Given the description of an element on the screen output the (x, y) to click on. 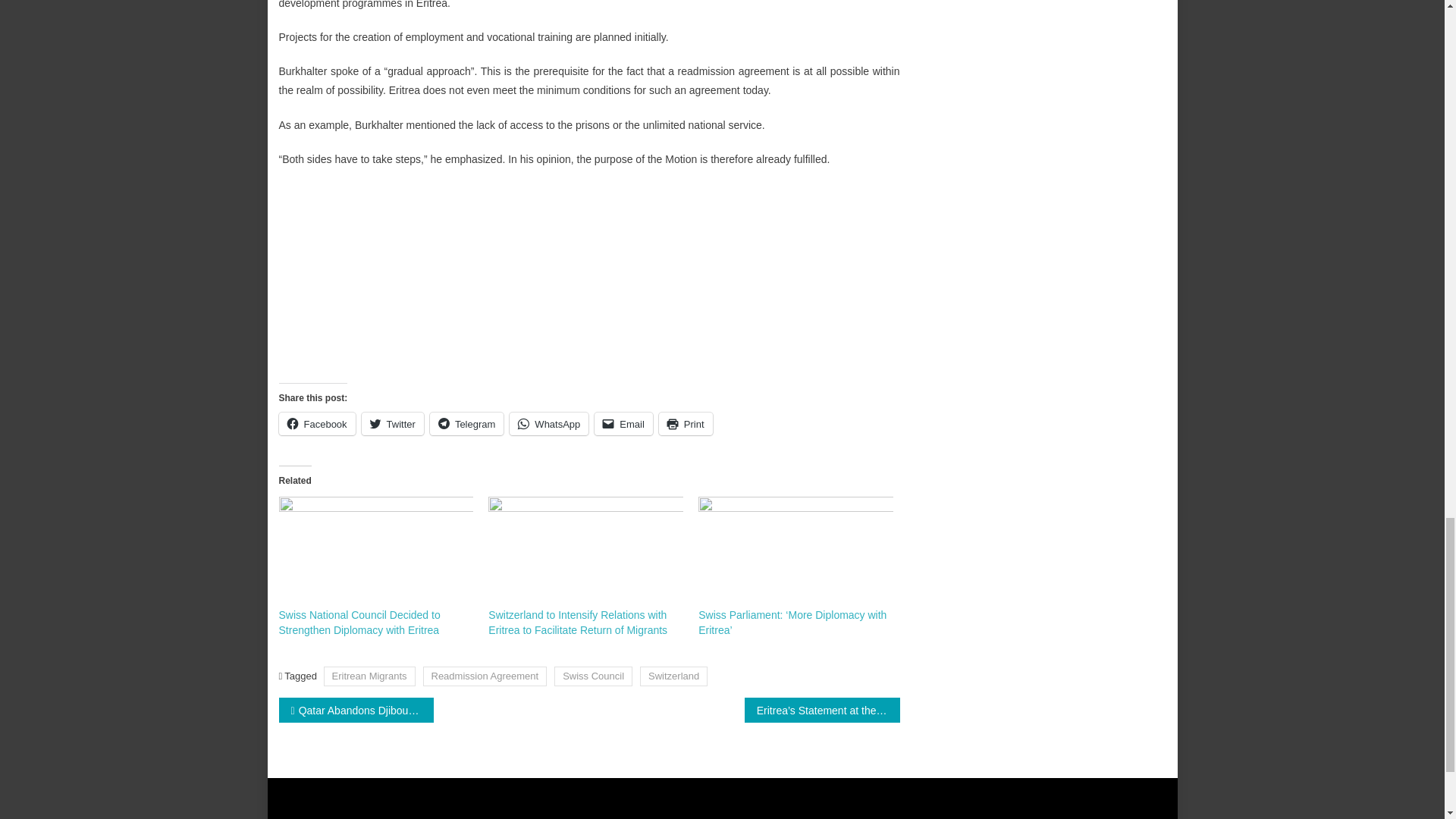
Click to share on Facebook (317, 423)
Twitter (392, 423)
Click to email a link to a friend (623, 423)
Telegram (466, 423)
Click to share on Telegram (466, 423)
Facebook (317, 423)
Click to share on Twitter (392, 423)
Email (623, 423)
